Given the description of an element on the screen output the (x, y) to click on. 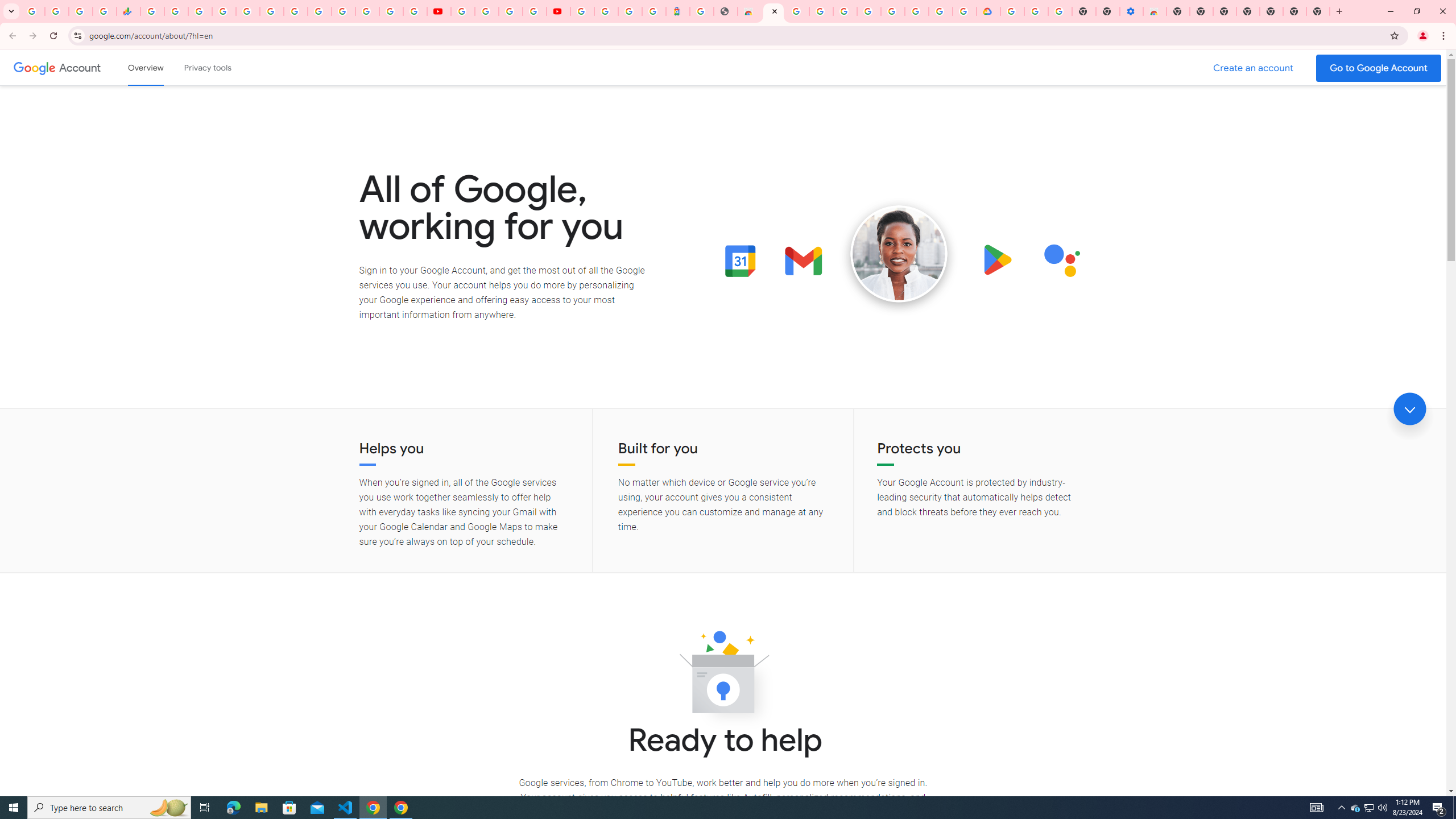
Google Account overview (145, 67)
Go to your Google Account (1378, 67)
YouTube (438, 11)
Sign in - Google Accounts (223, 11)
New Tab (1178, 11)
Turn cookies on or off - Computer - Google Account Help (1059, 11)
Google Account Help (1035, 11)
